Given the description of an element on the screen output the (x, y) to click on. 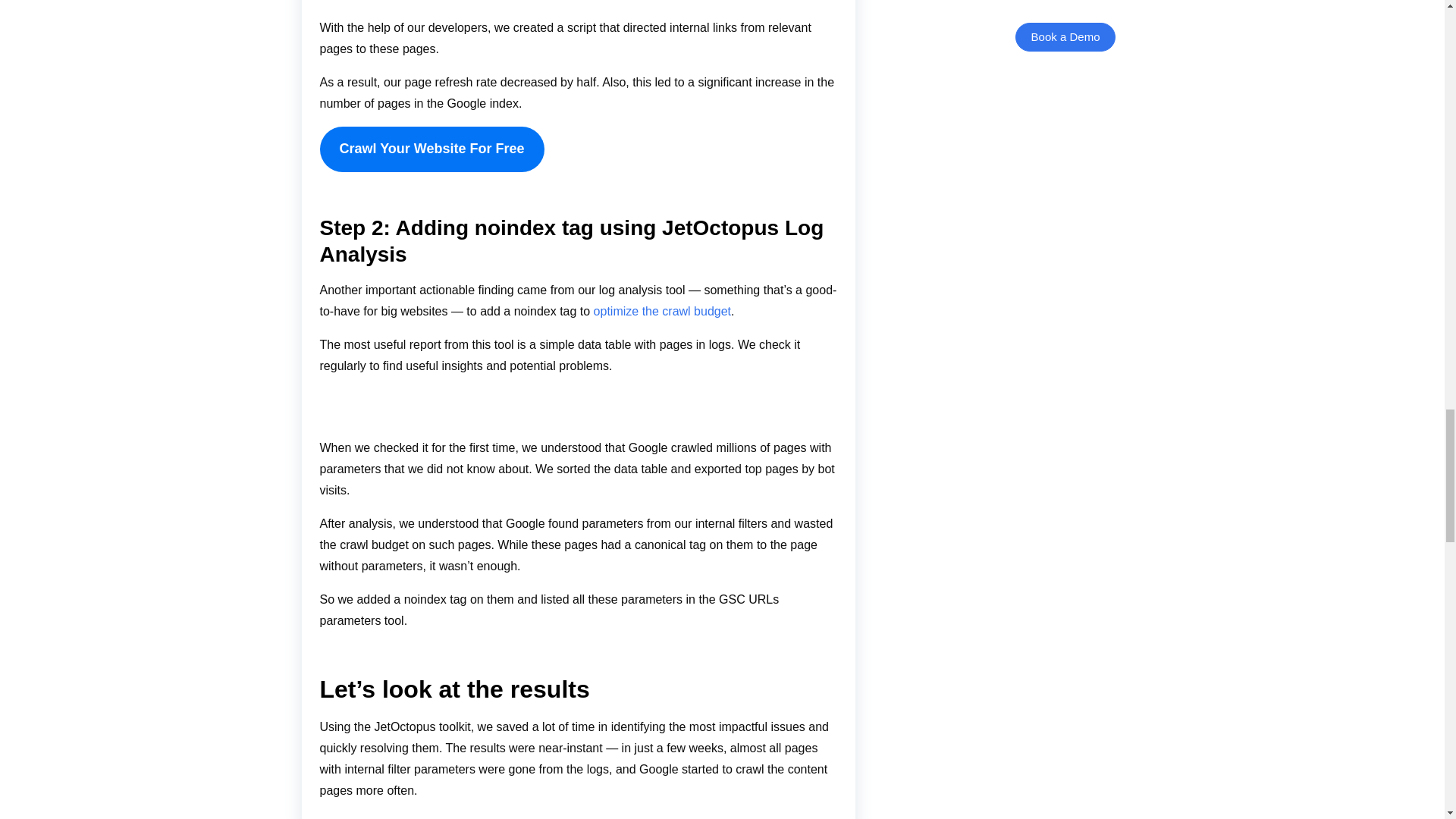
Crawl Your Website For Free (432, 148)
optimize the crawl budget (662, 310)
